Given the description of an element on the screen output the (x, y) to click on. 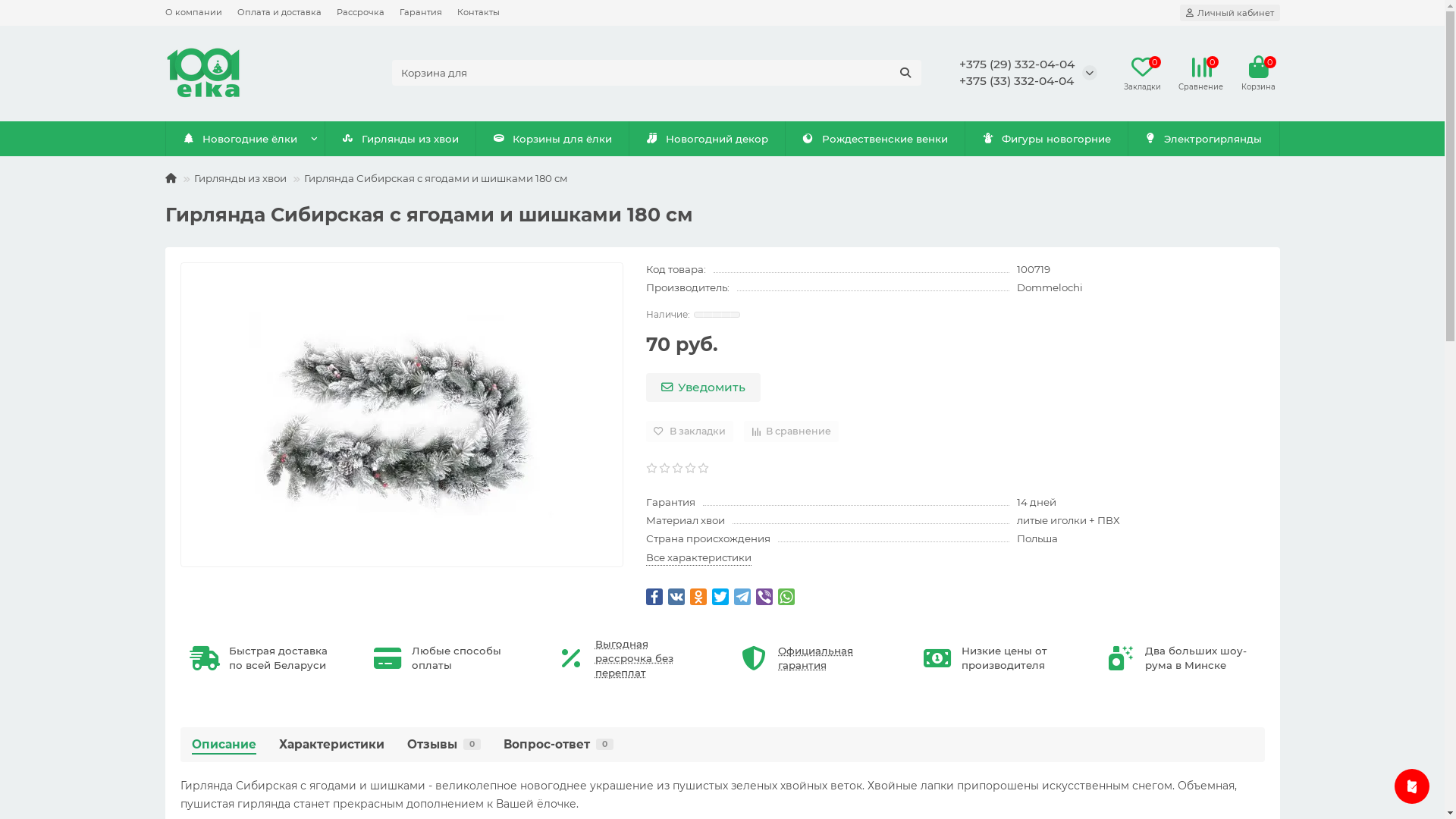
0 Element type: text (1257, 67)
+375 (29) 332-04-04 Element type: text (1015, 63)
+375 (33) 332-04-04 Element type: text (1015, 80)
1001elka.by Element type: hover (203, 72)
Dommelochi Element type: text (1049, 287)
